Given the description of an element on the screen output the (x, y) to click on. 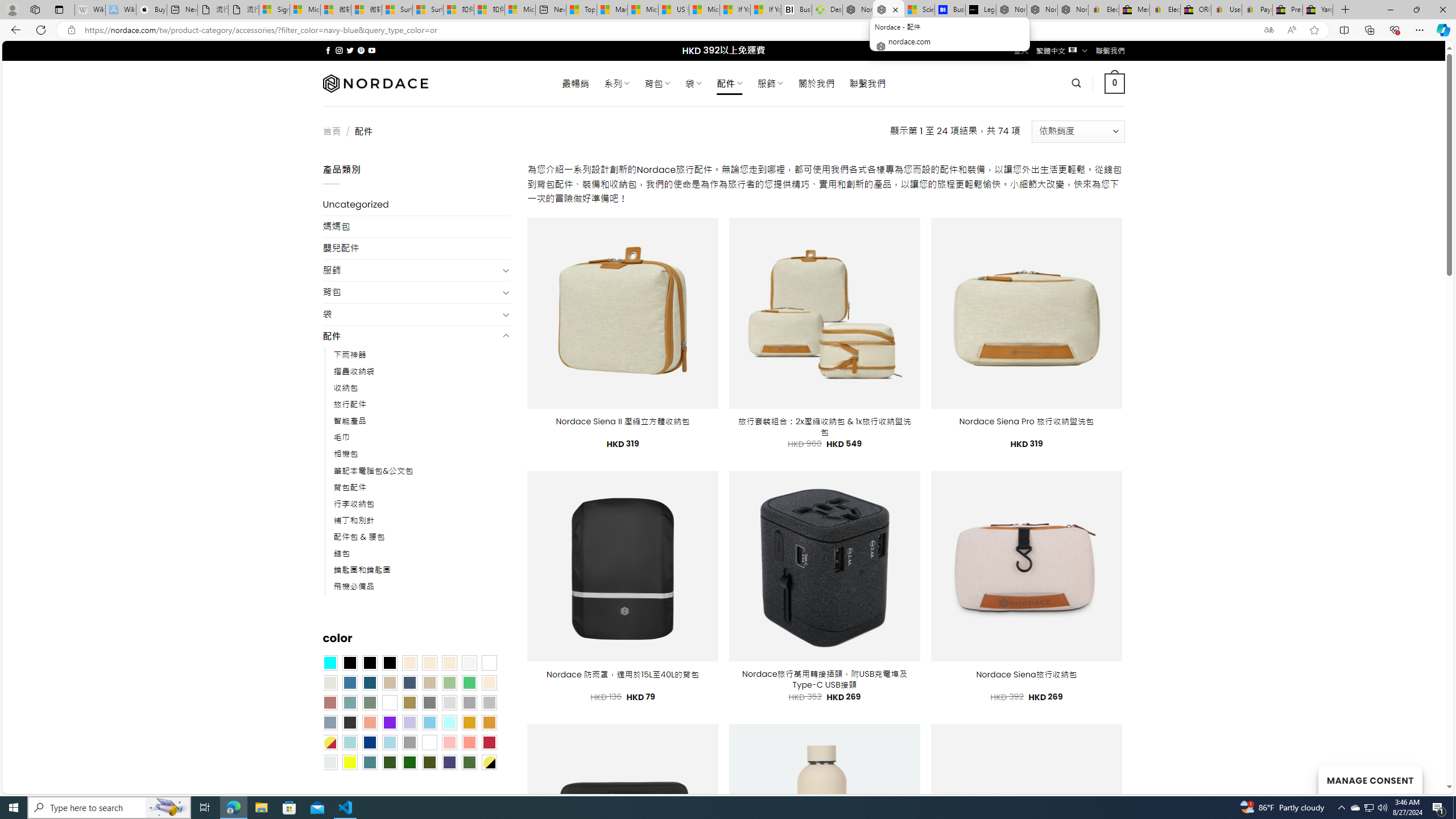
Cream (449, 662)
Payments Terms of Use | eBay.com (1256, 9)
Dull Nickle (329, 762)
